Given the description of an element on the screen output the (x, y) to click on. 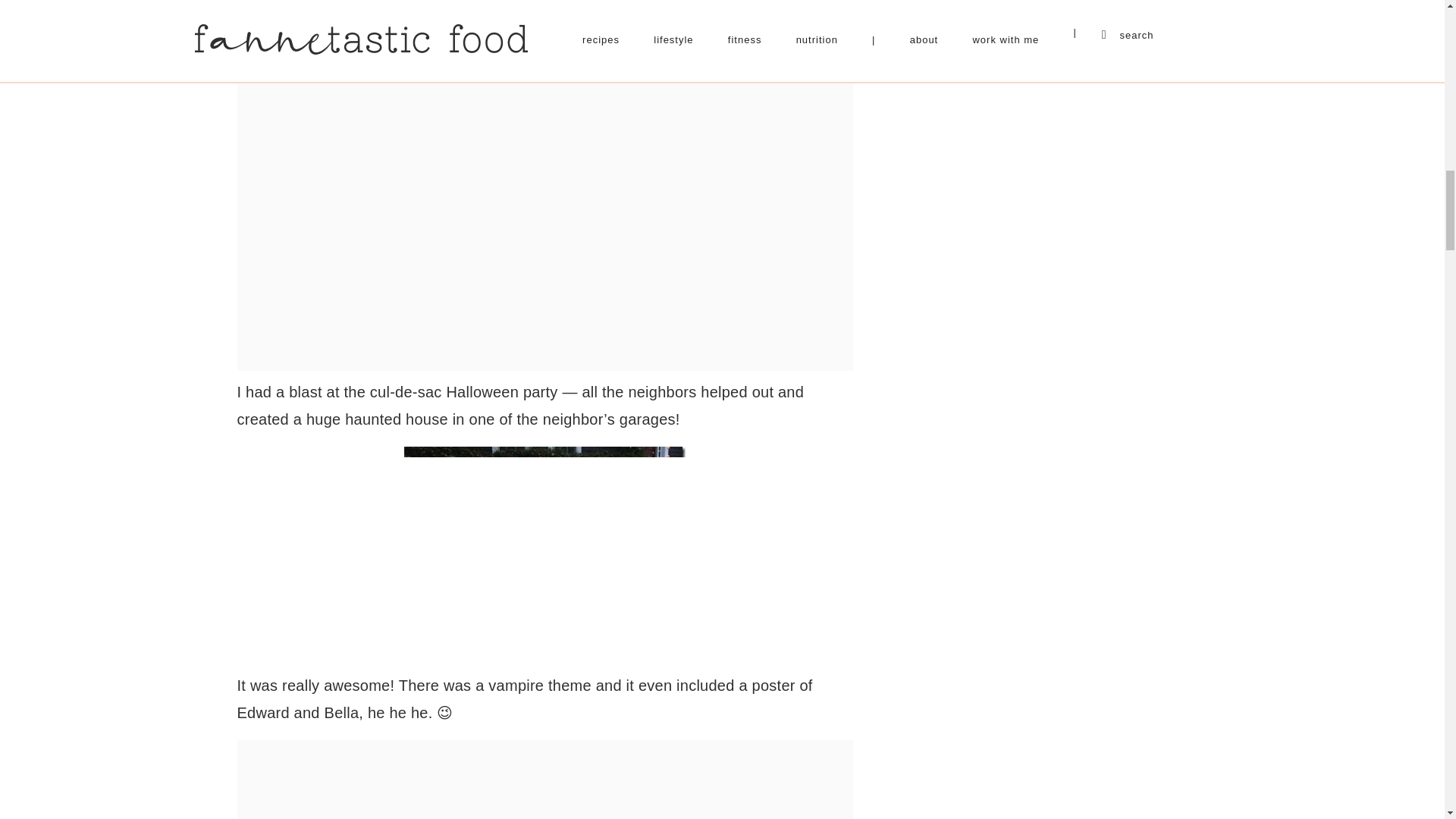
036 (544, 552)
